Given the description of an element on the screen output the (x, y) to click on. 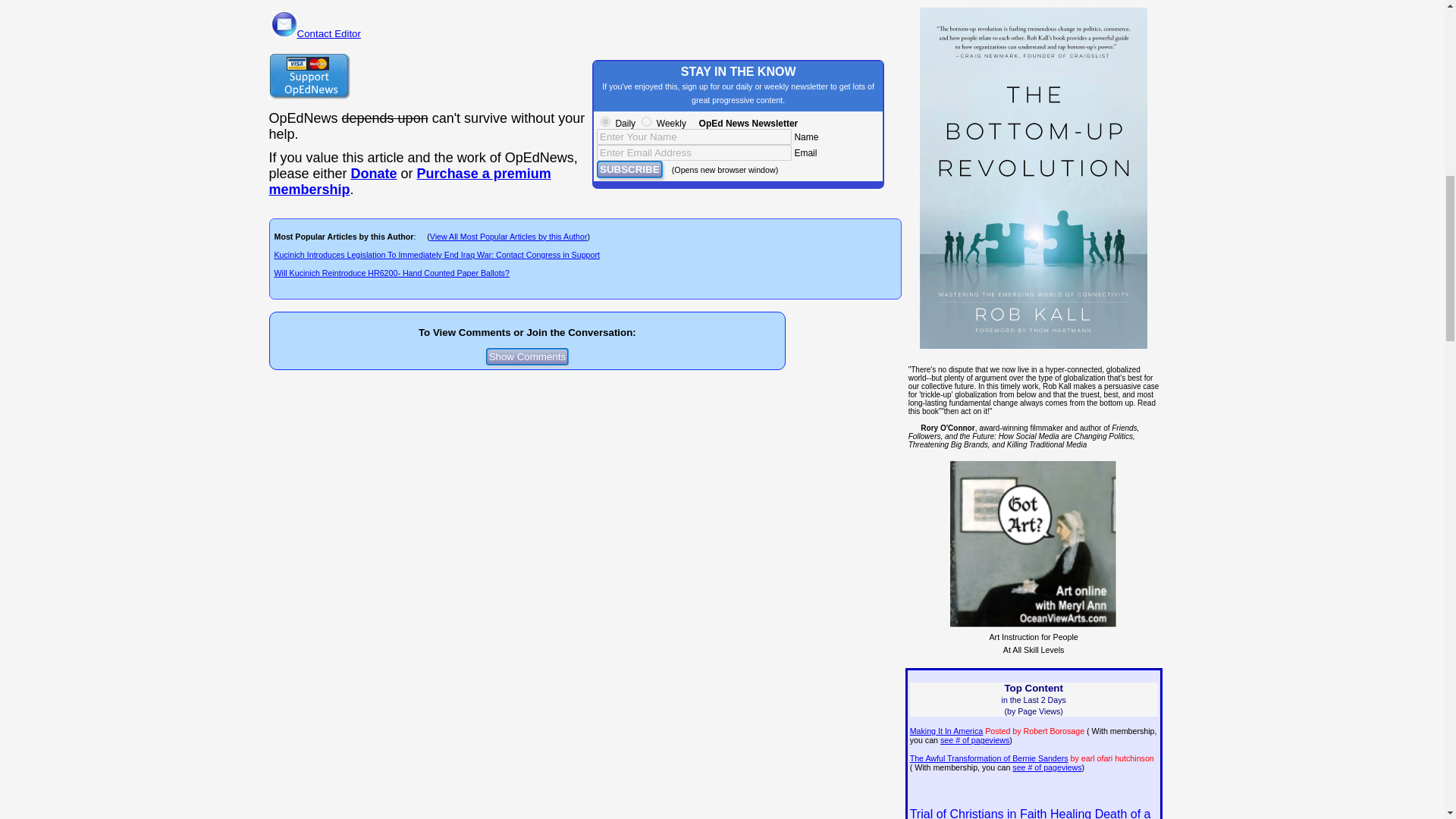
Show Comments (527, 356)
Support OpEdNews (308, 76)
SUBSCRIBE (629, 169)
View All Most Popular Articles by this Author (508, 235)
SUBSCRIBE (629, 169)
Donate (373, 173)
Purchase a premium membership (408, 181)
Enter Email Address (694, 152)
Weekly (646, 121)
-- (408, 181)
-- (373, 173)
Enter Your Name (694, 136)
Daily (604, 121)
